Given the description of an element on the screen output the (x, y) to click on. 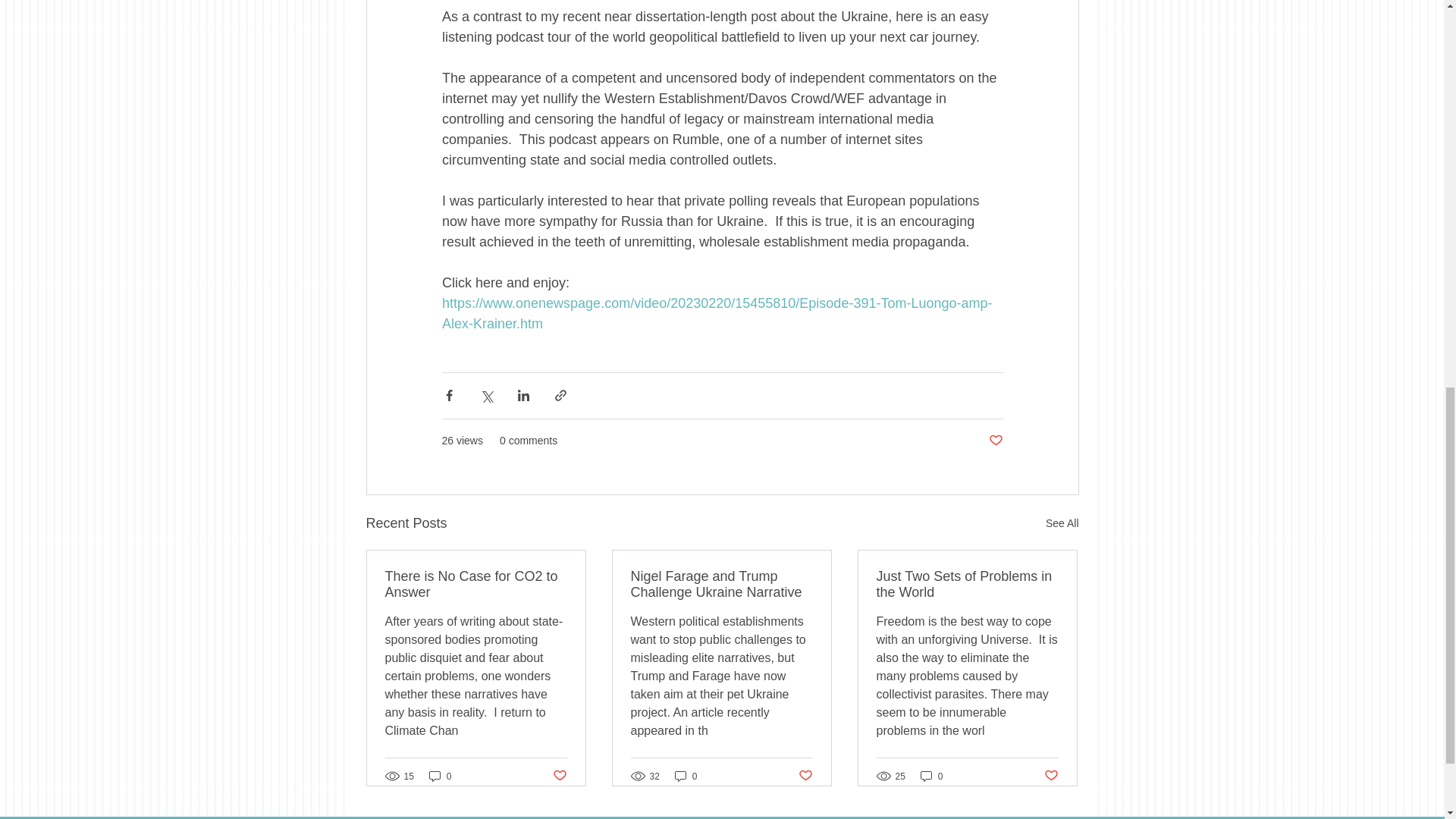
Nigel Farage and Trump Challenge Ukraine Narrative (721, 584)
0 (685, 775)
Just Two Sets of Problems in the World (967, 584)
There is No Case for CO2 to Answer (476, 584)
Post not marked as liked (804, 775)
See All (1061, 523)
0 (931, 775)
0 (440, 775)
Post not marked as liked (995, 440)
Post not marked as liked (1050, 775)
Post not marked as liked (558, 775)
